Given the description of an element on the screen output the (x, y) to click on. 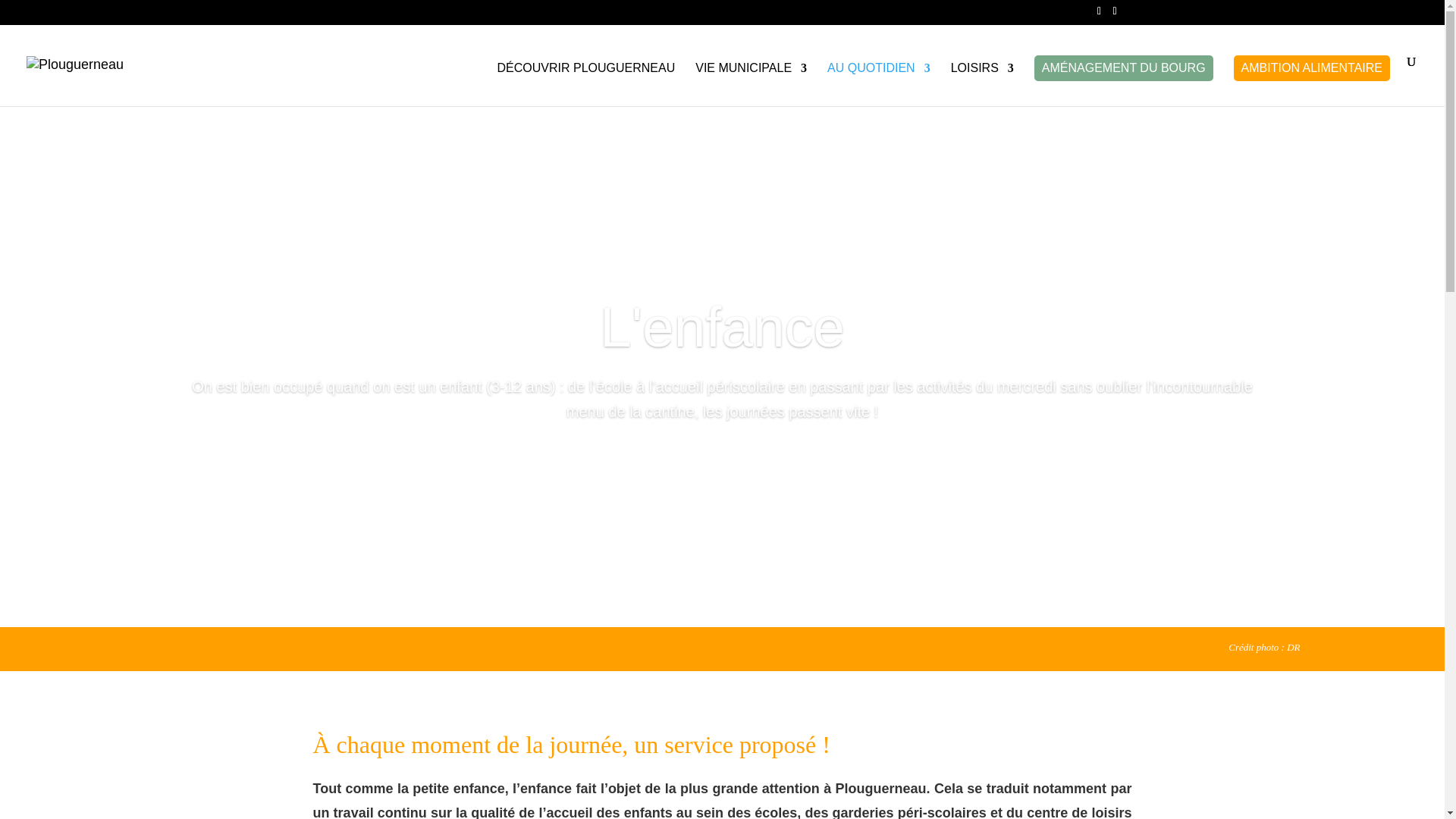
VIE MUNICIPALE Element type: text (750, 84)
AMBITION ALIMENTAIRE Element type: text (1311, 68)
LOISIRS Element type: text (981, 84)
AU QUOTIDIEN Element type: text (878, 84)
